Given the description of an element on the screen output the (x, y) to click on. 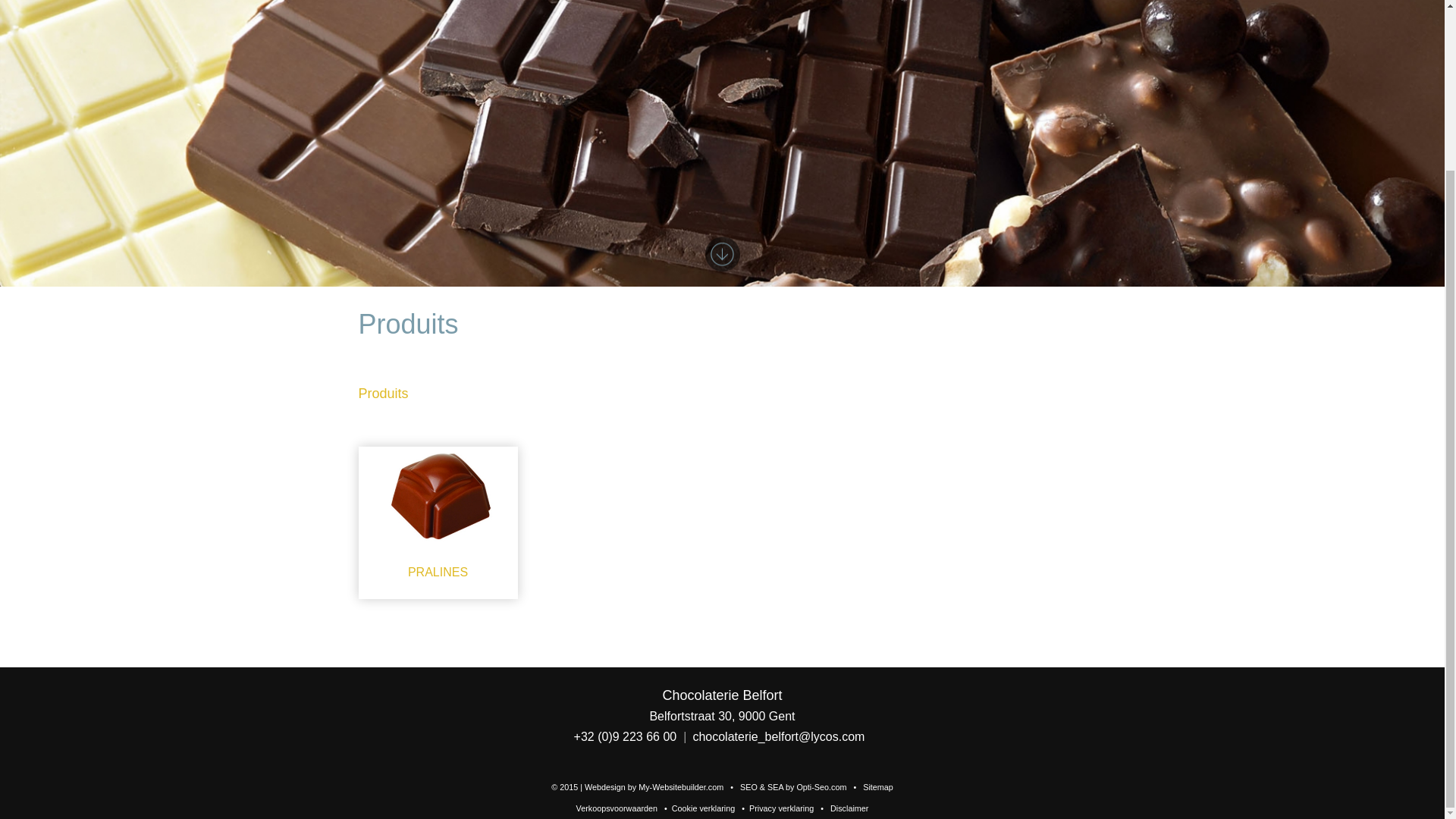
qui sommes nous Element type: text (500, 22)
Pralines Element type: hover (437, 700)
FR Element type: text (1055, 22)
Produits Element type: text (382, 597)
assortiment Element type: text (586, 22)
nouvelles & promo Element type: text (819, 22)
produits Element type: text (650, 22)
PRALINES Element type: text (437, 727)
contact et info Element type: text (966, 22)
galerie Element type: text (899, 22)
EN Element type: text (1081, 23)
ES Element type: text (1133, 23)
NL Element type: text (1030, 23)
DE Element type: text (1107, 23)
